Given the description of an element on the screen output the (x, y) to click on. 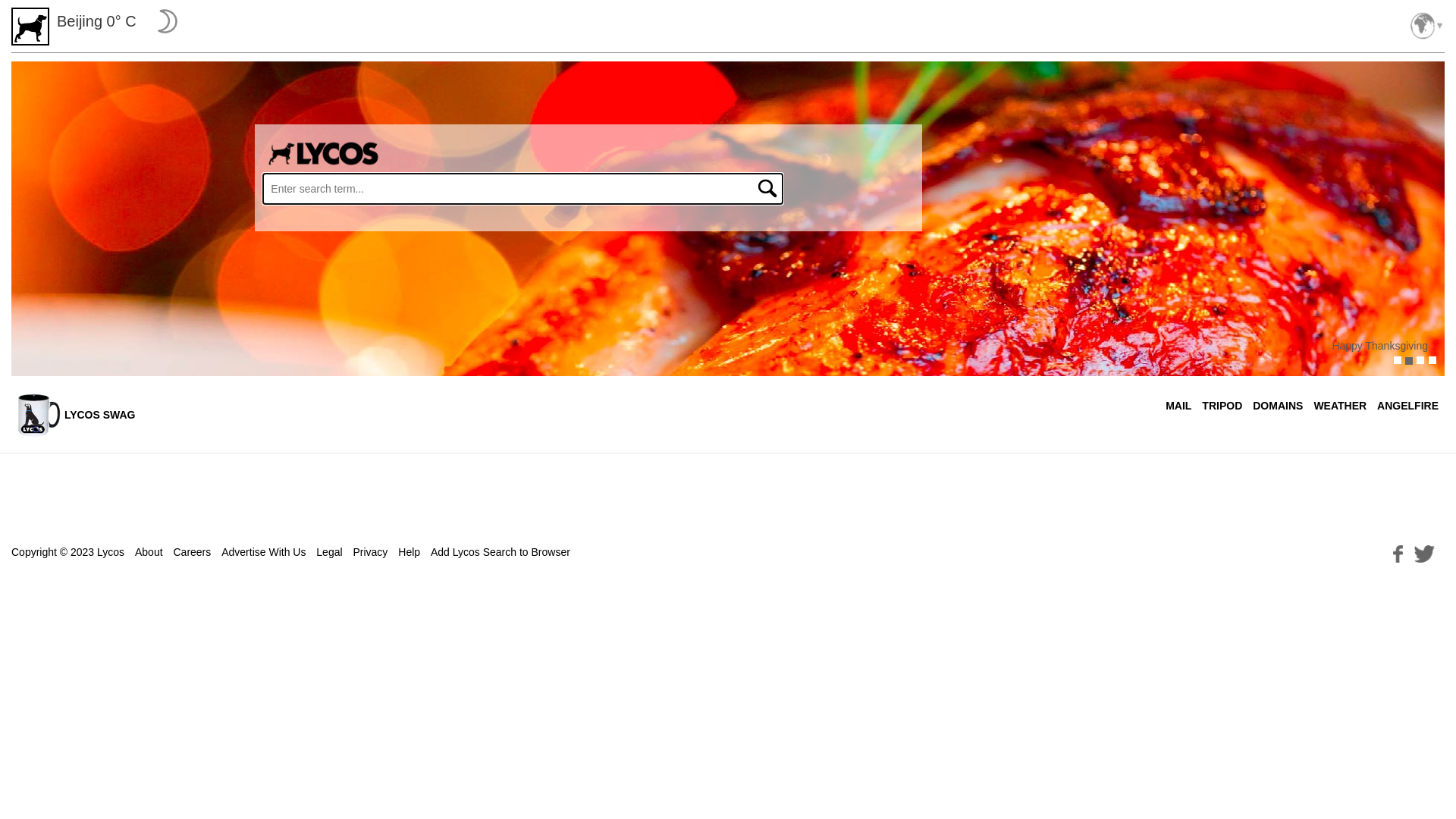
LYCOS SWAG Element type: text (75, 414)
DOMAINS Element type: text (1277, 405)
MAIL Element type: text (1178, 405)
Follow Lycos on Twitter Element type: hover (1424, 552)
Advertise With Us Element type: text (263, 552)
WEATHER Element type: text (1339, 405)
About Element type: text (148, 552)
Help Element type: text (409, 552)
Add Lycos Search to Browser Element type: text (500, 552)
Careers Element type: text (191, 552)
ANGELFIRE Element type: text (1407, 405)
Privacy Element type: text (369, 552)
TRIPOD Element type: text (1221, 405)
Friend Lycos on Facebook Element type: hover (1397, 552)
Legal Element type: text (329, 552)
